Given the description of an element on the screen output the (x, y) to click on. 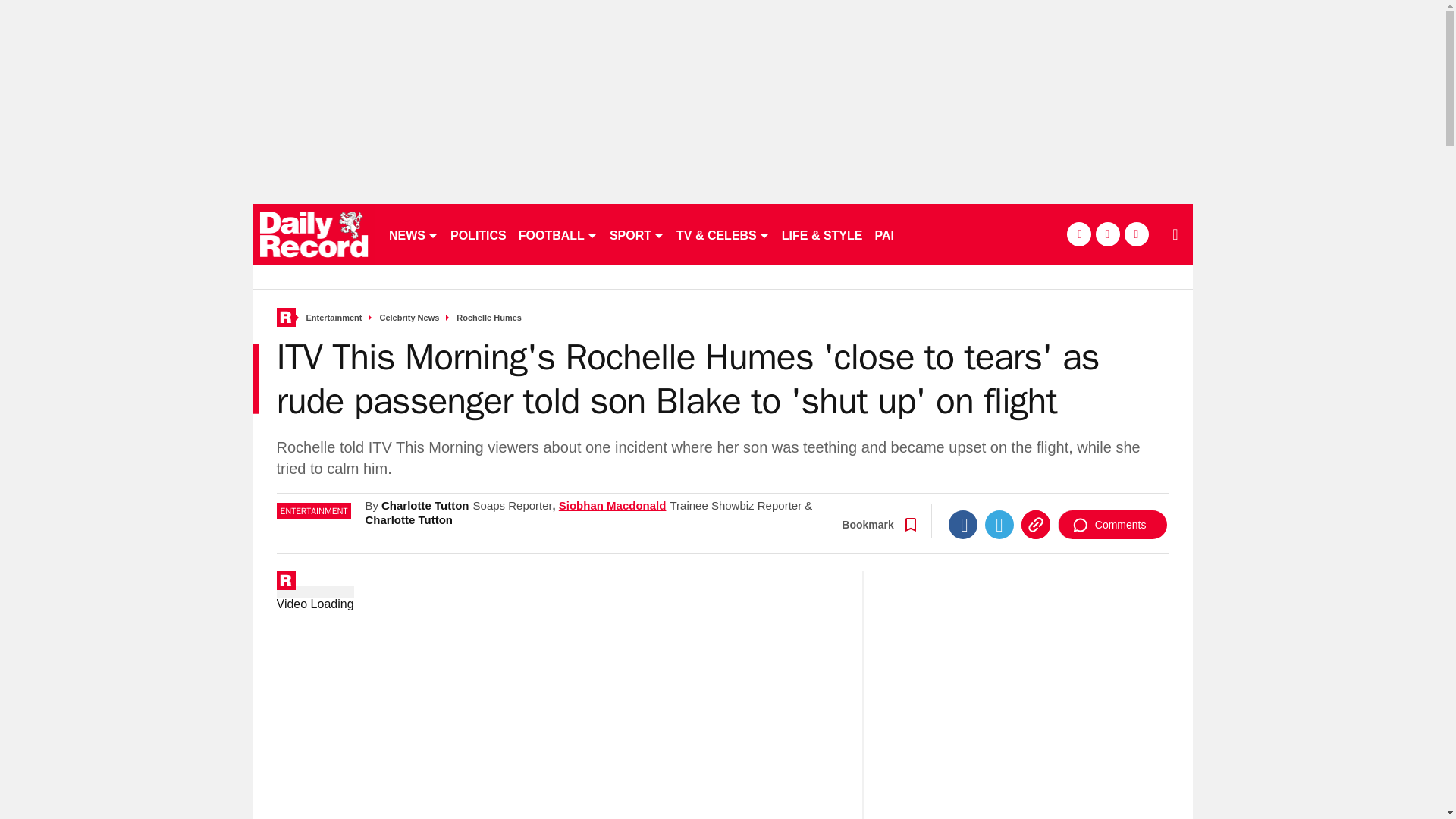
NEWS (413, 233)
instagram (1055, 233)
POLITICS (478, 233)
FOOTBALL (558, 233)
SPORT (636, 233)
Facebook (956, 588)
facebook (997, 233)
dailyrecord (313, 233)
Twitter (992, 588)
twitter (1026, 233)
Comments (1108, 588)
